Given the description of an element on the screen output the (x, y) to click on. 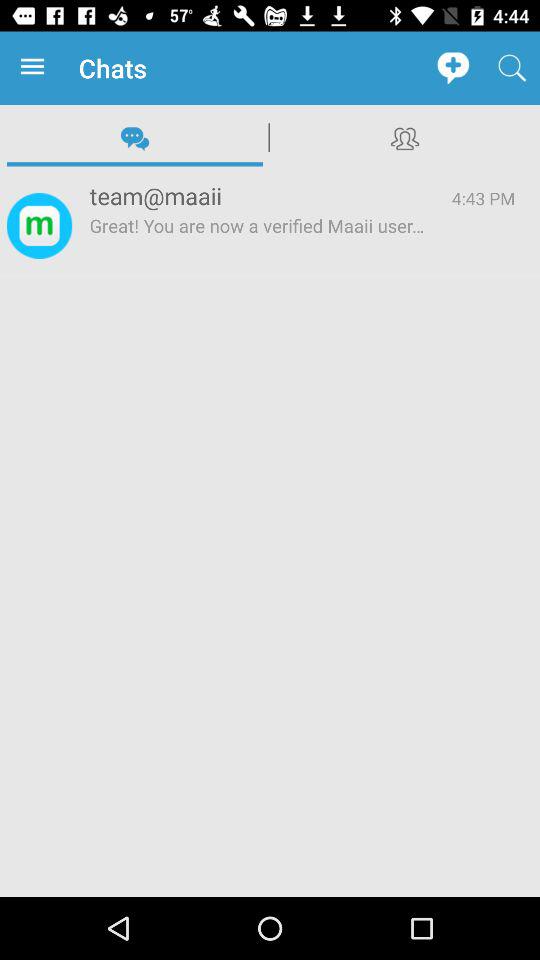
turn off the great you are item (258, 245)
